Given the description of an element on the screen output the (x, y) to click on. 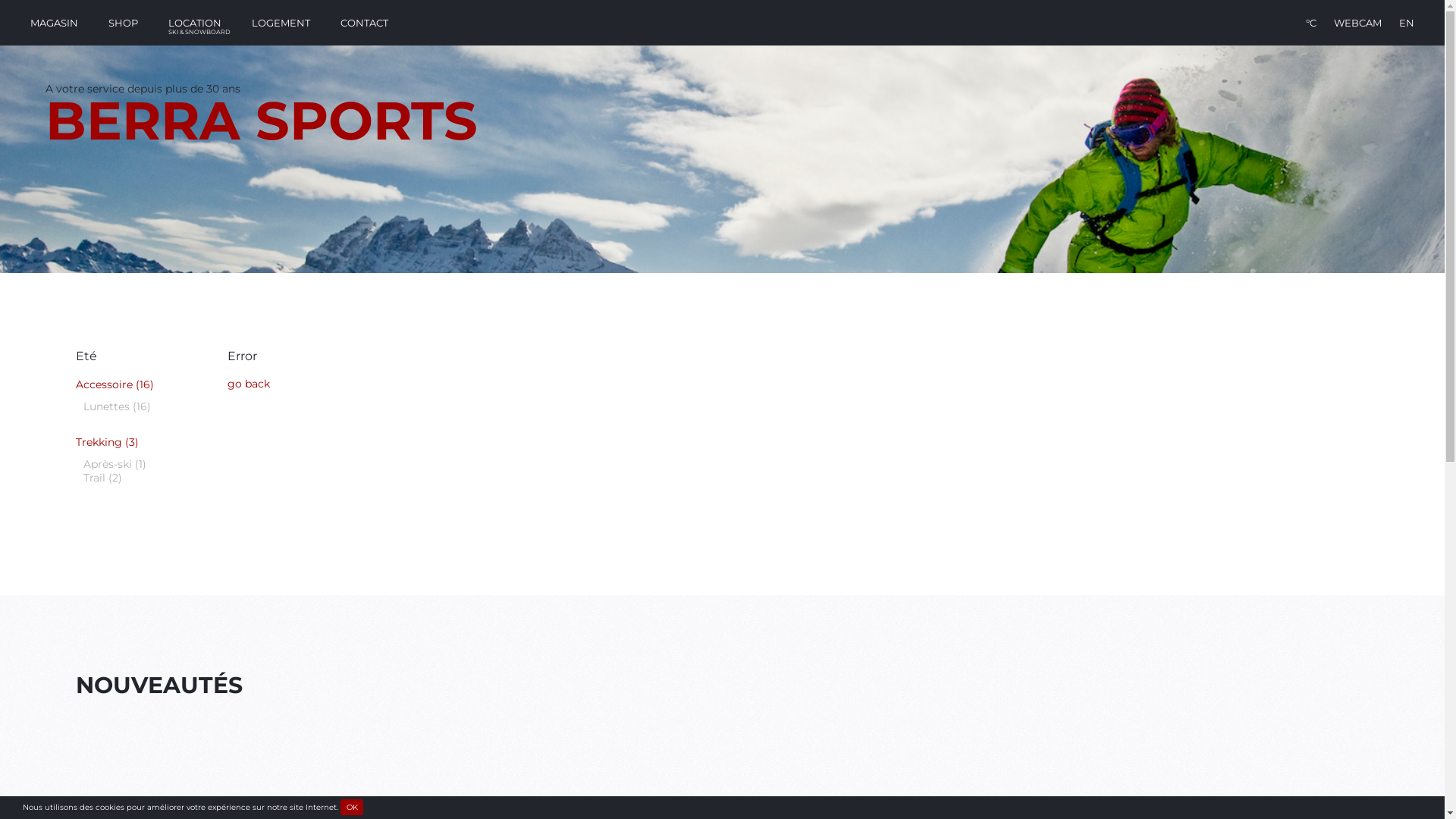
go back Element type: text (248, 383)
WEBCAM Element type: text (1357, 22)
BERRA SPORTS Element type: text (261, 120)
Trekking (3) Element type: text (106, 441)
OK Element type: text (351, 807)
Trail (2) Element type: text (102, 477)
Accessoire (16) Element type: text (114, 384)
Lunettes (16) Element type: text (116, 406)
EN Element type: text (1406, 22)
